Given the description of an element on the screen output the (x, y) to click on. 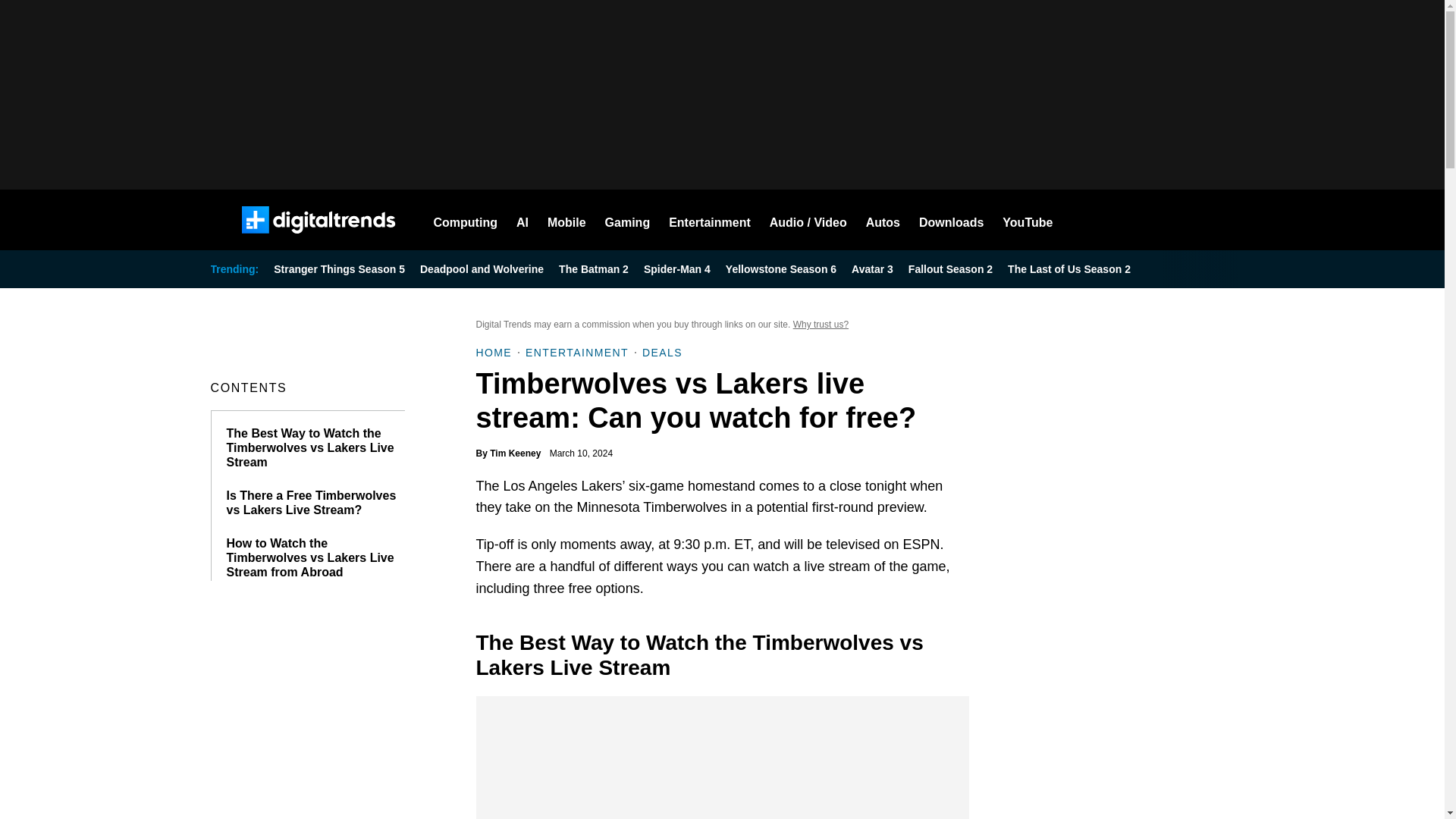
Entertainment (709, 219)
Downloads (951, 219)
Computing (465, 219)
